Given the description of an element on the screen output the (x, y) to click on. 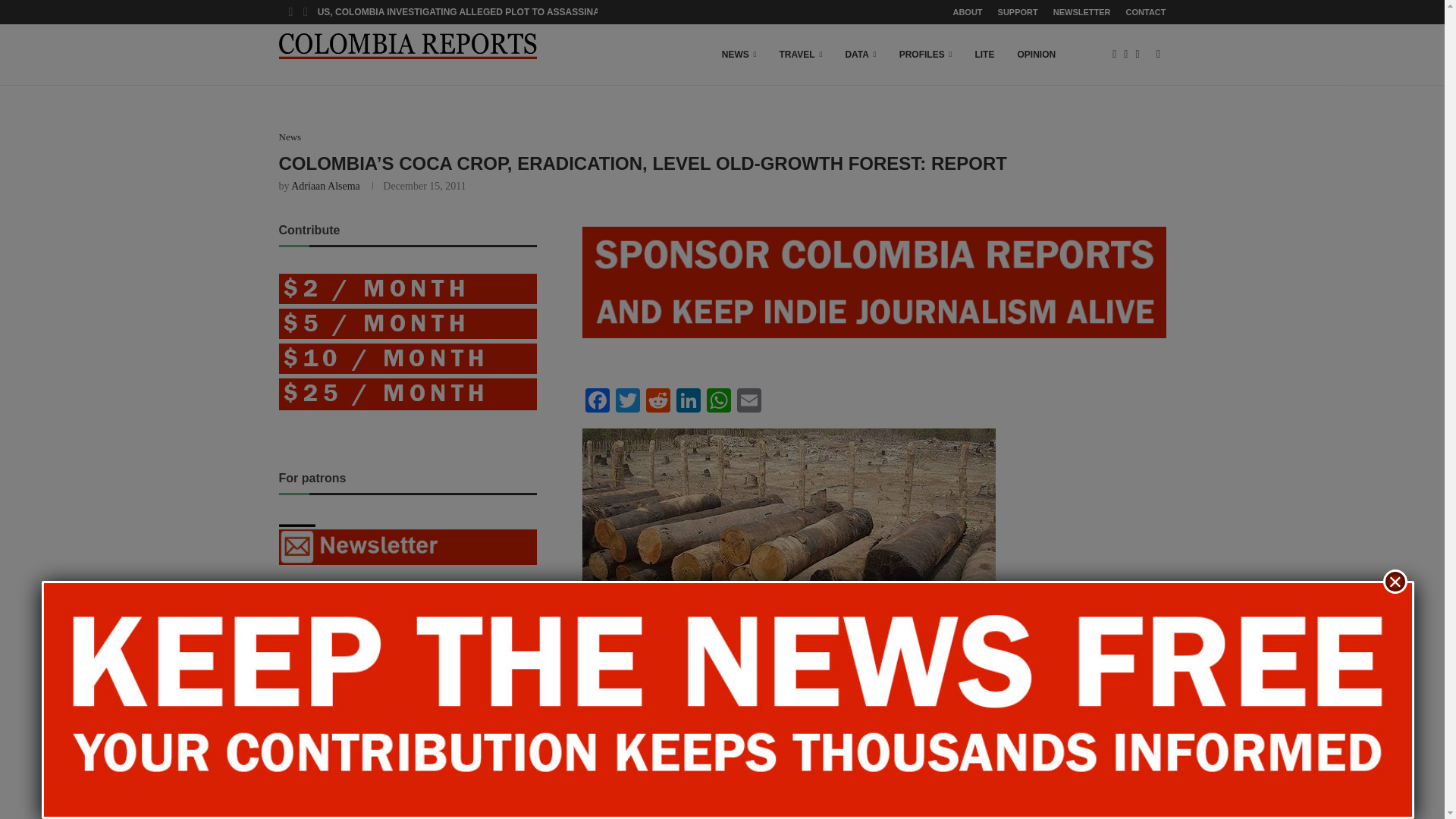
WhatsApp (718, 402)
SUPPORT (1017, 12)
TRAVEL (801, 54)
Email (748, 402)
Reddit (657, 402)
LinkedIn (687, 402)
ABOUT (966, 12)
Facebook (597, 402)
CONTACT (1145, 12)
NEWS (739, 54)
